Given the description of an element on the screen output the (x, y) to click on. 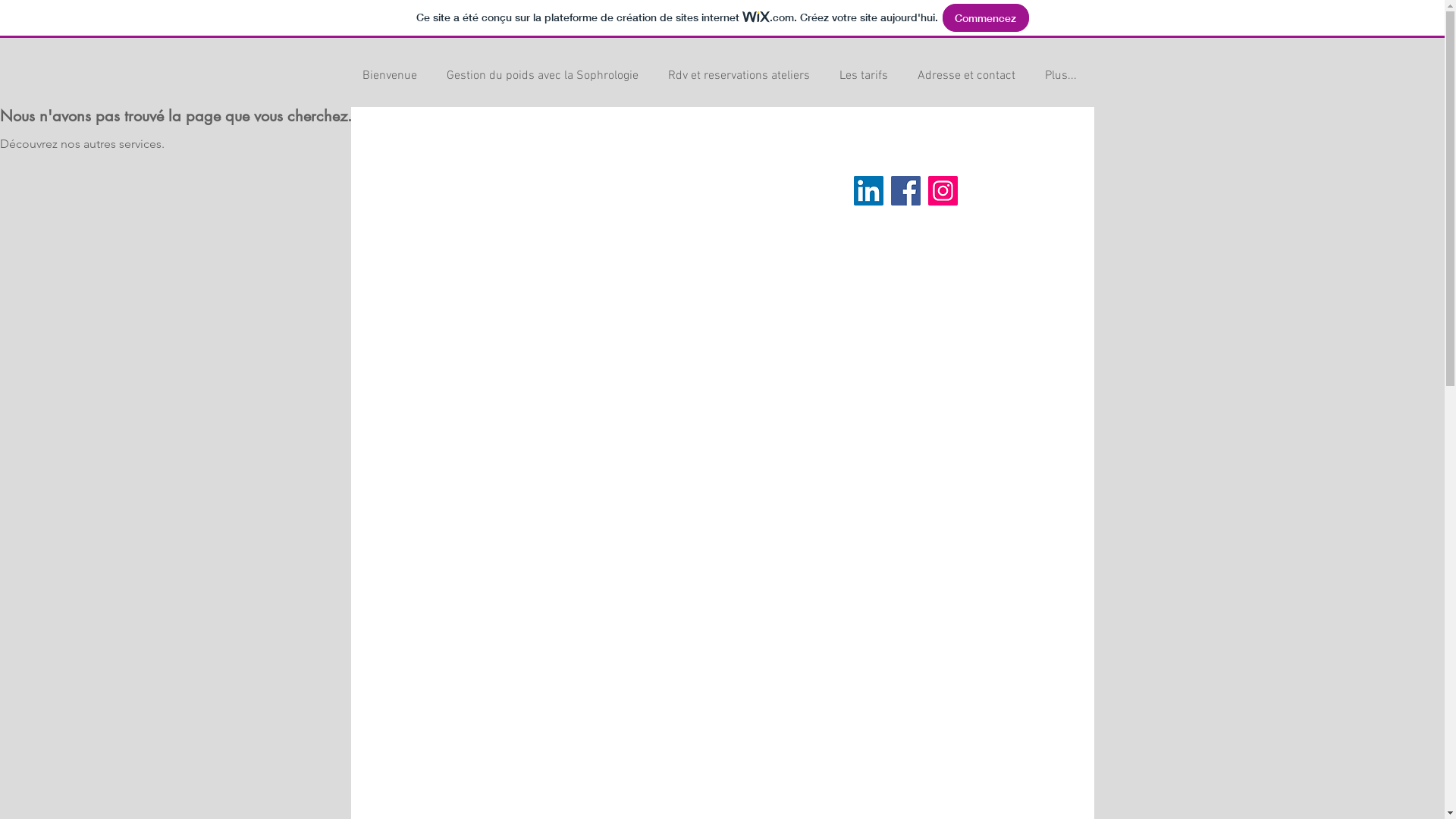
Rdv et reservations ateliers Element type: text (742, 75)
Les tarifs Element type: text (867, 75)
Adresse et contact Element type: text (968, 75)
Bienvenue Element type: text (392, 75)
Gestion du poids avec la Sophrologie Element type: text (545, 75)
